Given the description of an element on the screen output the (x, y) to click on. 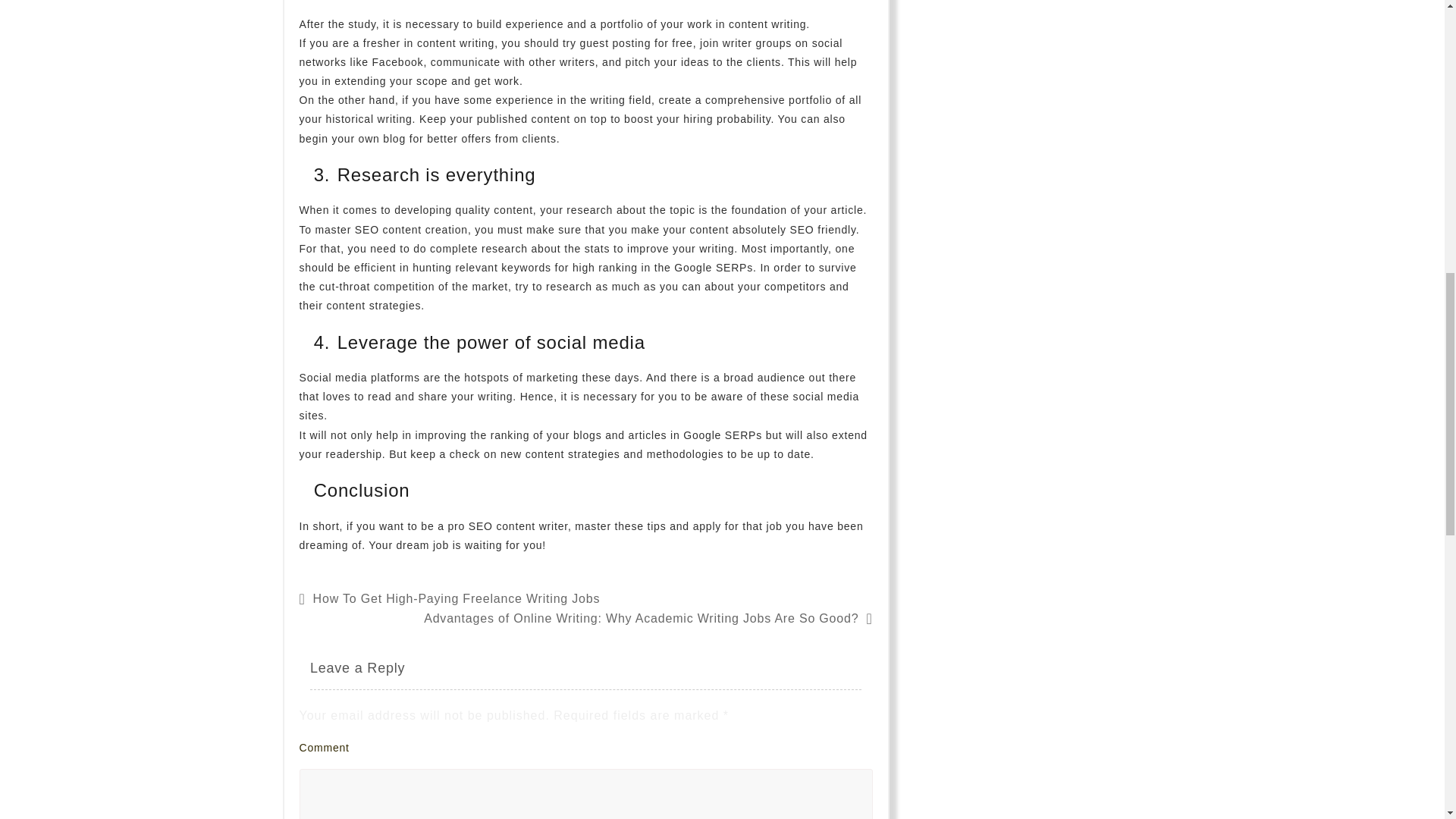
How To Get High-Paying Freelance Writing Jobs (456, 598)
